Given the description of an element on the screen output the (x, y) to click on. 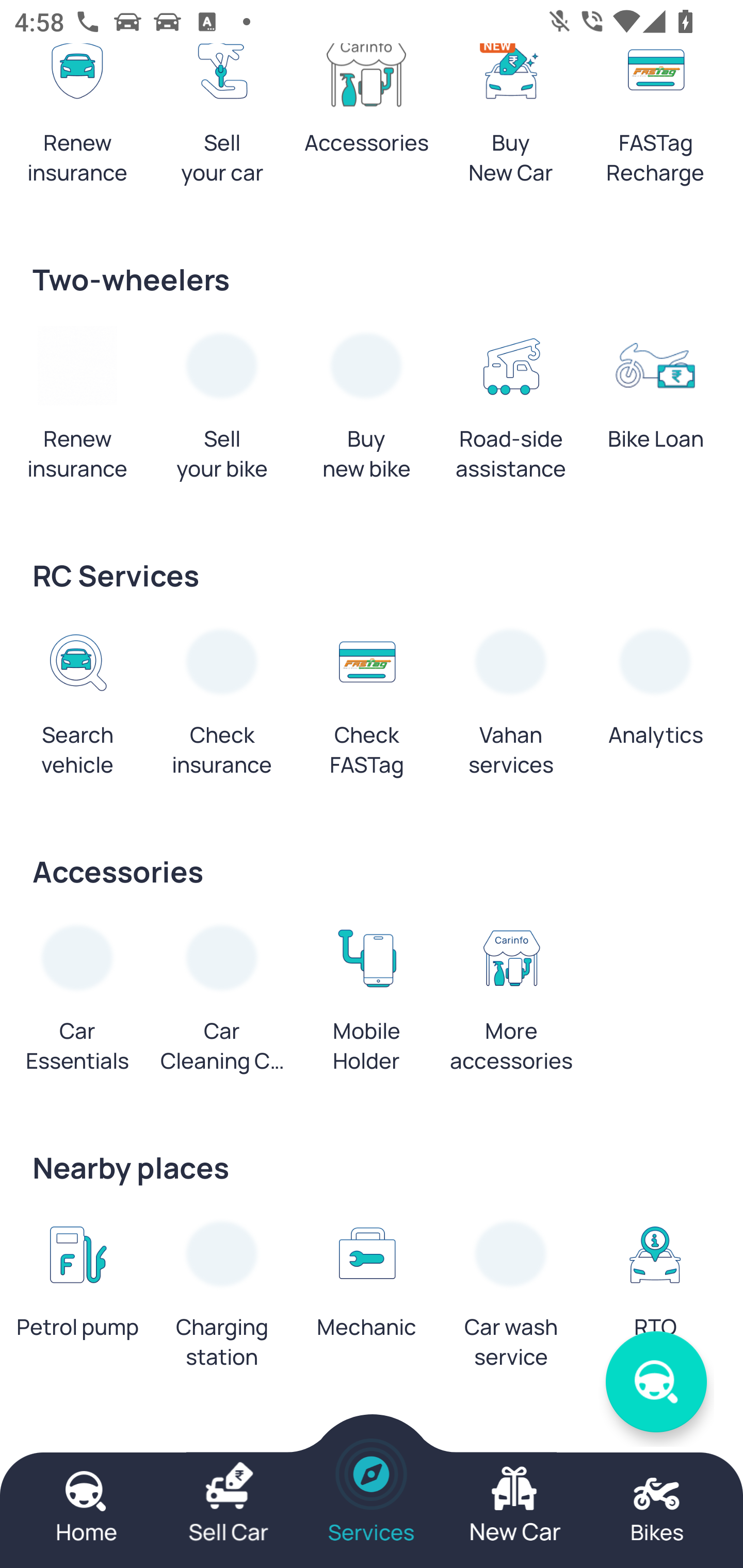
Renew
insurance (77, 119)
Sell
your car (221, 119)
Accessories (366, 104)
Buy
New Car (510, 119)
FASTag Recharge (655, 119)
Renew
insurance (77, 409)
Sell
your bike (221, 409)
Buy
new bike (366, 409)
Road-side
assistance (510, 409)
Bike Loan (655, 394)
Search vehicle (77, 705)
Check insurance (221, 705)
Check FASTag (366, 705)
Vahan services (510, 705)
Analytics (655, 690)
Car
Essentials (77, 1001)
Car
Cleaning Compound (221, 1001)
Mobile
Holder (366, 1001)
More
accessories (510, 1001)
Petrol pump (77, 1282)
Charging station (221, 1297)
Mechanic (366, 1282)
Car wash service (510, 1297)
RTO
office (655, 1297)
